Given the description of an element on the screen output the (x, y) to click on. 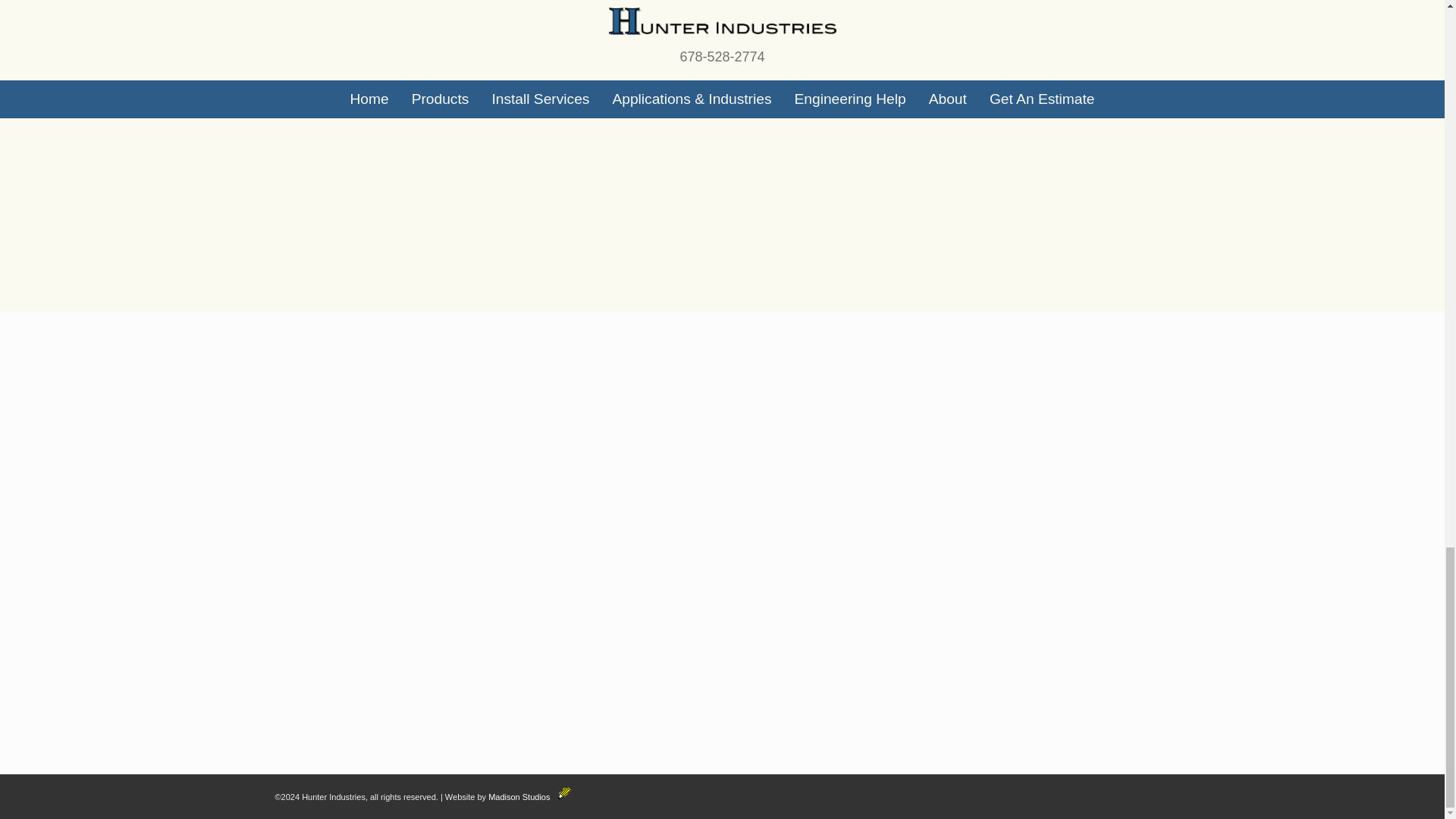
Madison Studios   (528, 796)
